Given the description of an element on the screen output the (x, y) to click on. 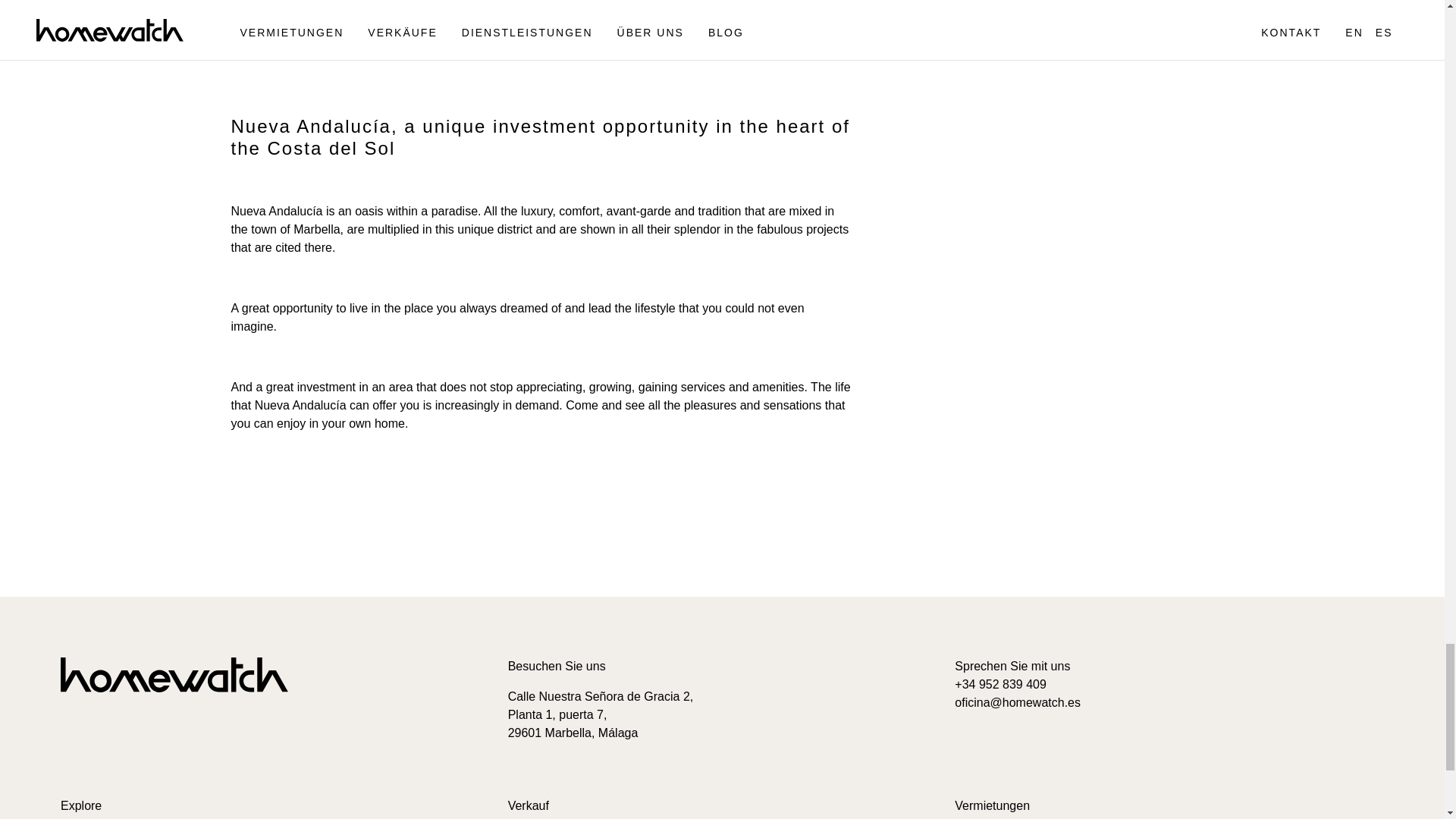
Twitter (166, 738)
Instagram (99, 737)
Linkedin (132, 737)
Youtube (202, 738)
